Given the description of an element on the screen output the (x, y) to click on. 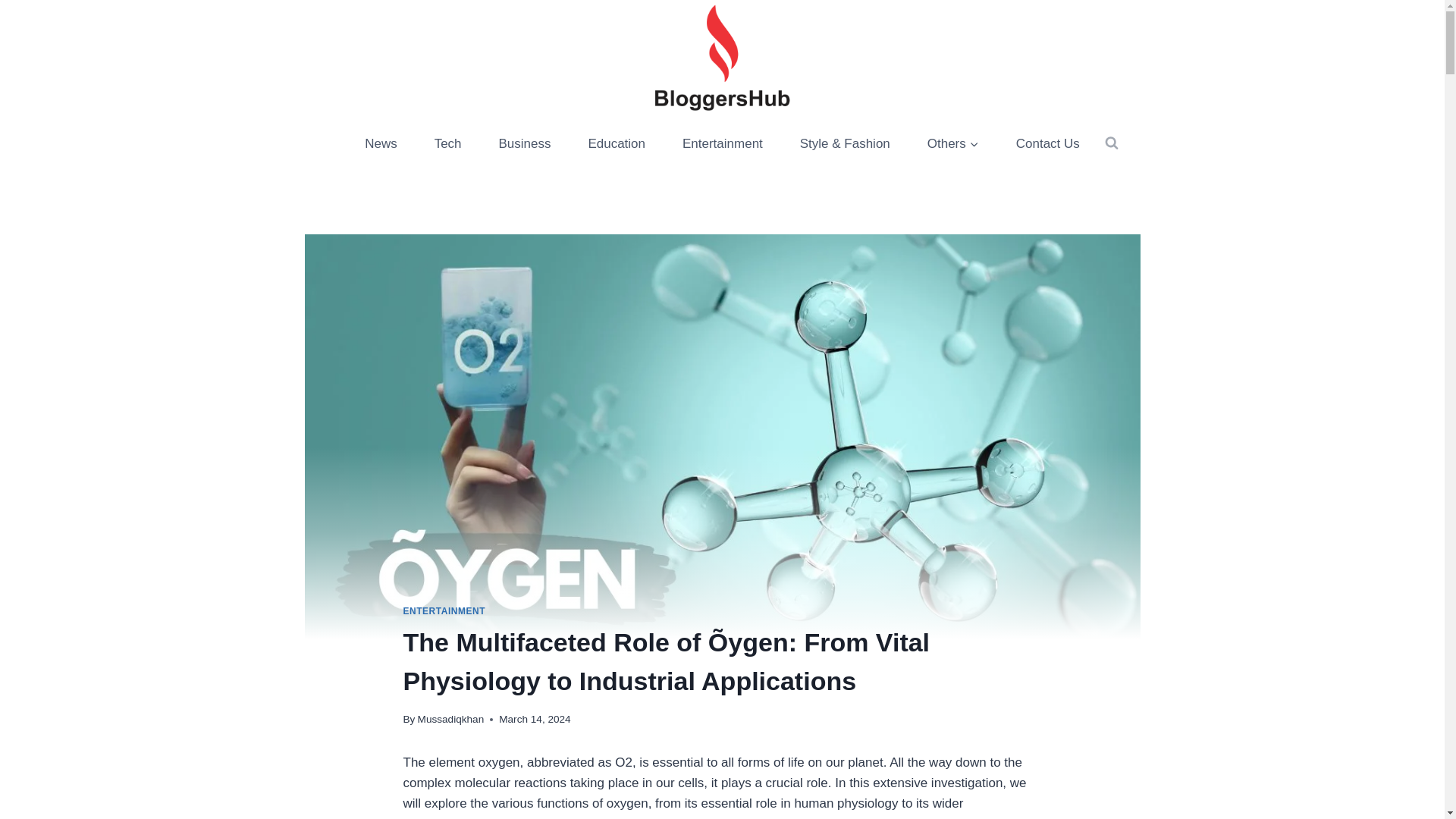
News (380, 143)
Entertainment (722, 143)
Mussadiqkhan (450, 718)
Contact Us (1047, 143)
Others (952, 143)
Tech (447, 143)
ENTERTAINMENT (444, 611)
Education (616, 143)
Business (524, 143)
